Given the description of an element on the screen output the (x, y) to click on. 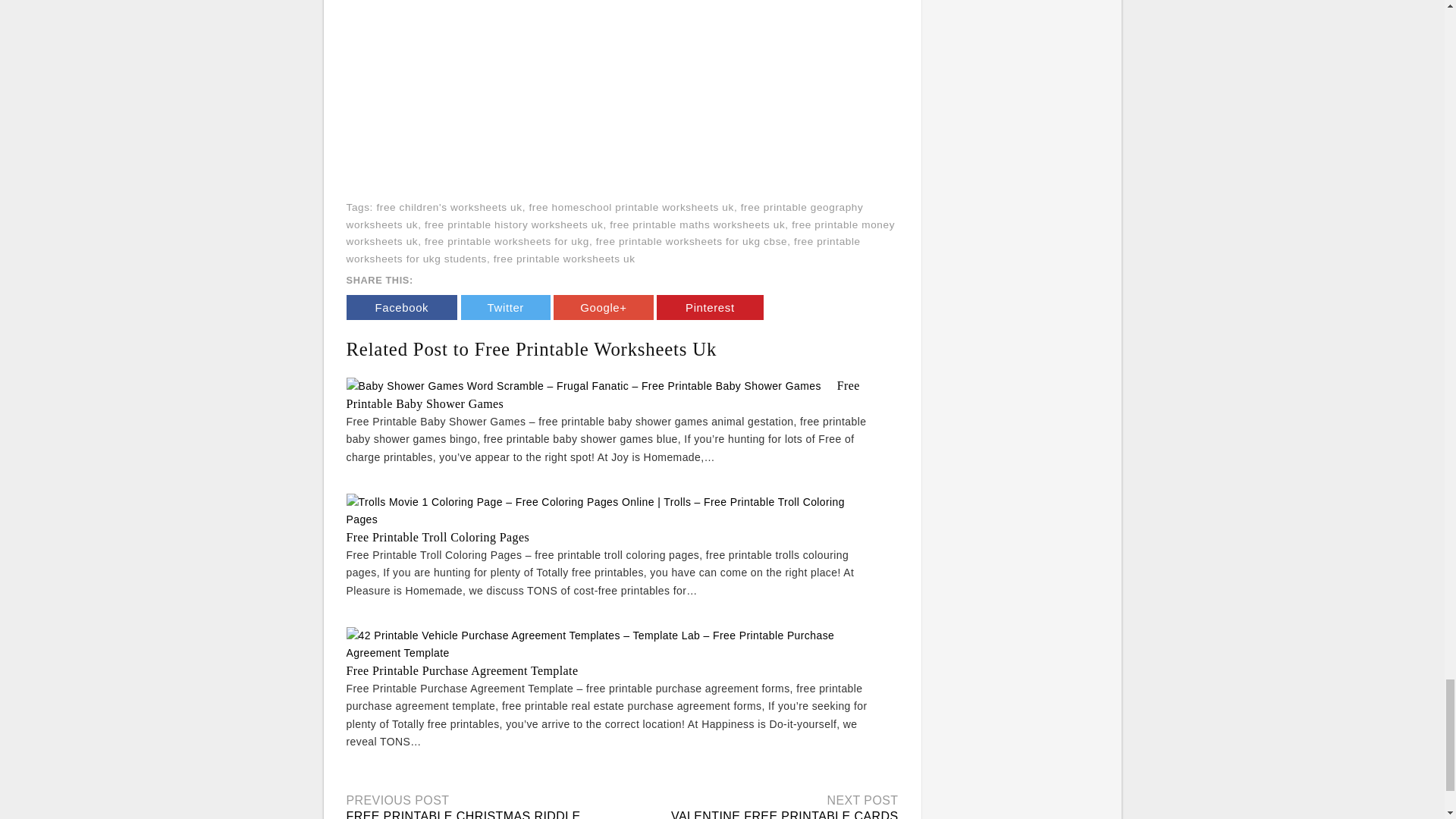
Facebook (401, 307)
Free Printable Baby Shower Games (602, 394)
Free Printable Troll Coloring Pages (437, 536)
free printable worksheets for ukg students (603, 249)
free printable worksheets uk (563, 258)
free printable geography worksheets uk (604, 215)
Free Printable Troll Coloring Pages (437, 536)
Twitter (505, 307)
free printable money worksheets uk (620, 233)
free printable worksheets for ukg cbse (691, 241)
